Given the description of an element on the screen output the (x, y) to click on. 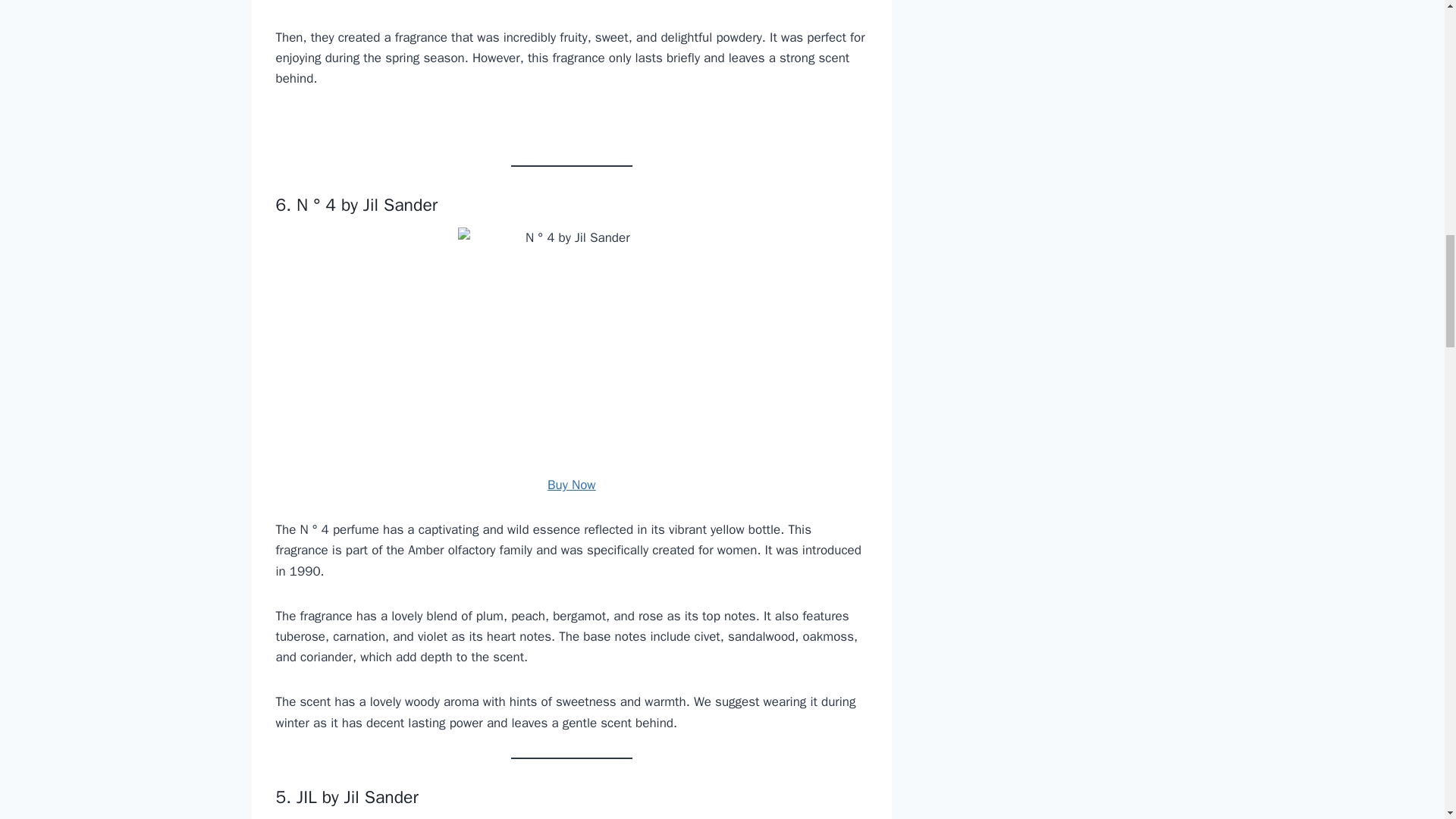
Buy Now (571, 484)
